Given the description of an element on the screen output the (x, y) to click on. 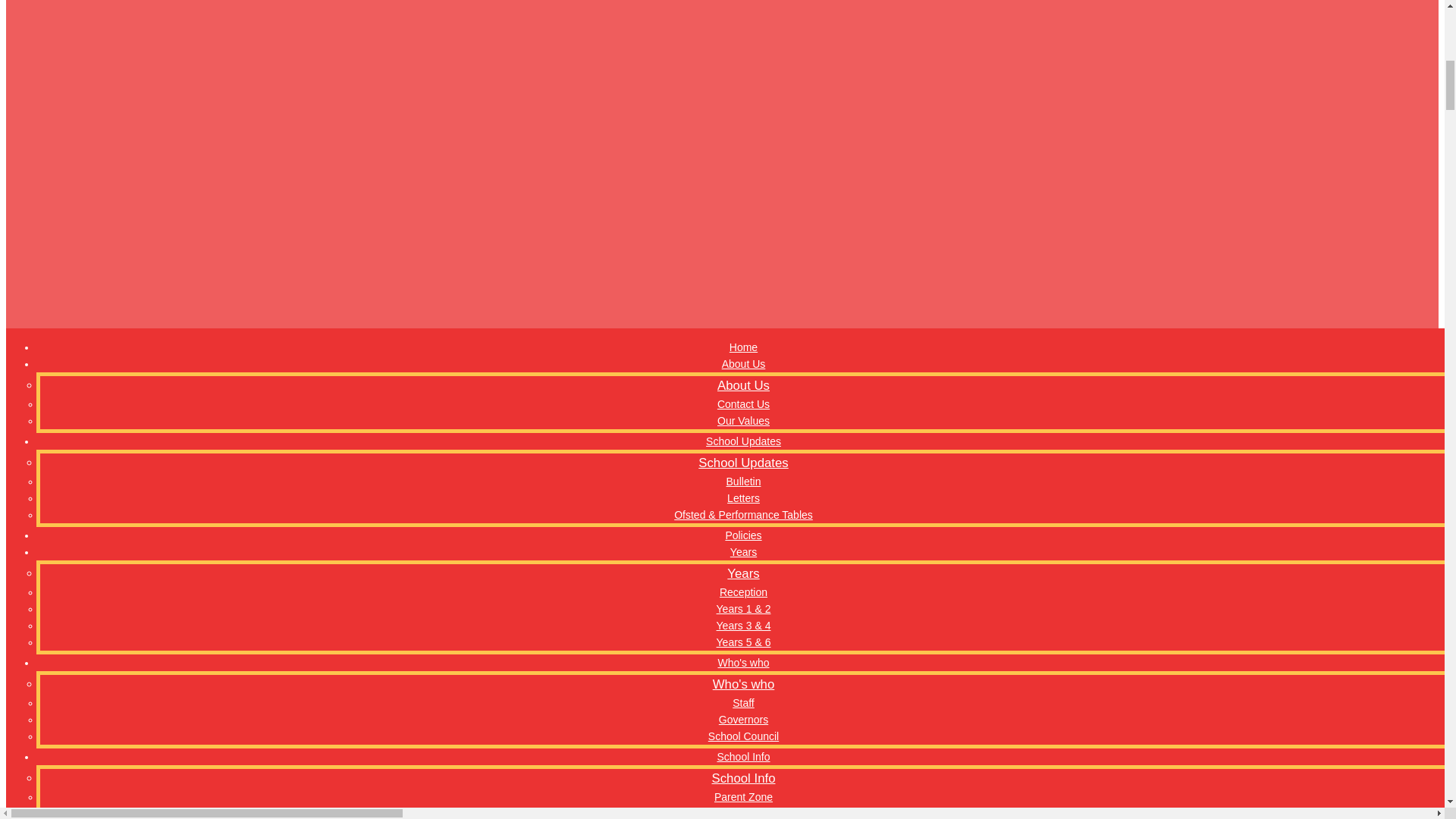
Sports (743, 61)
Pupil Premium (743, 94)
Vacancies (743, 111)
Calendar (743, 11)
Safeguarding (743, 44)
Sport Premium (743, 77)
SEND (743, 27)
